Given the description of an element on the screen output the (x, y) to click on. 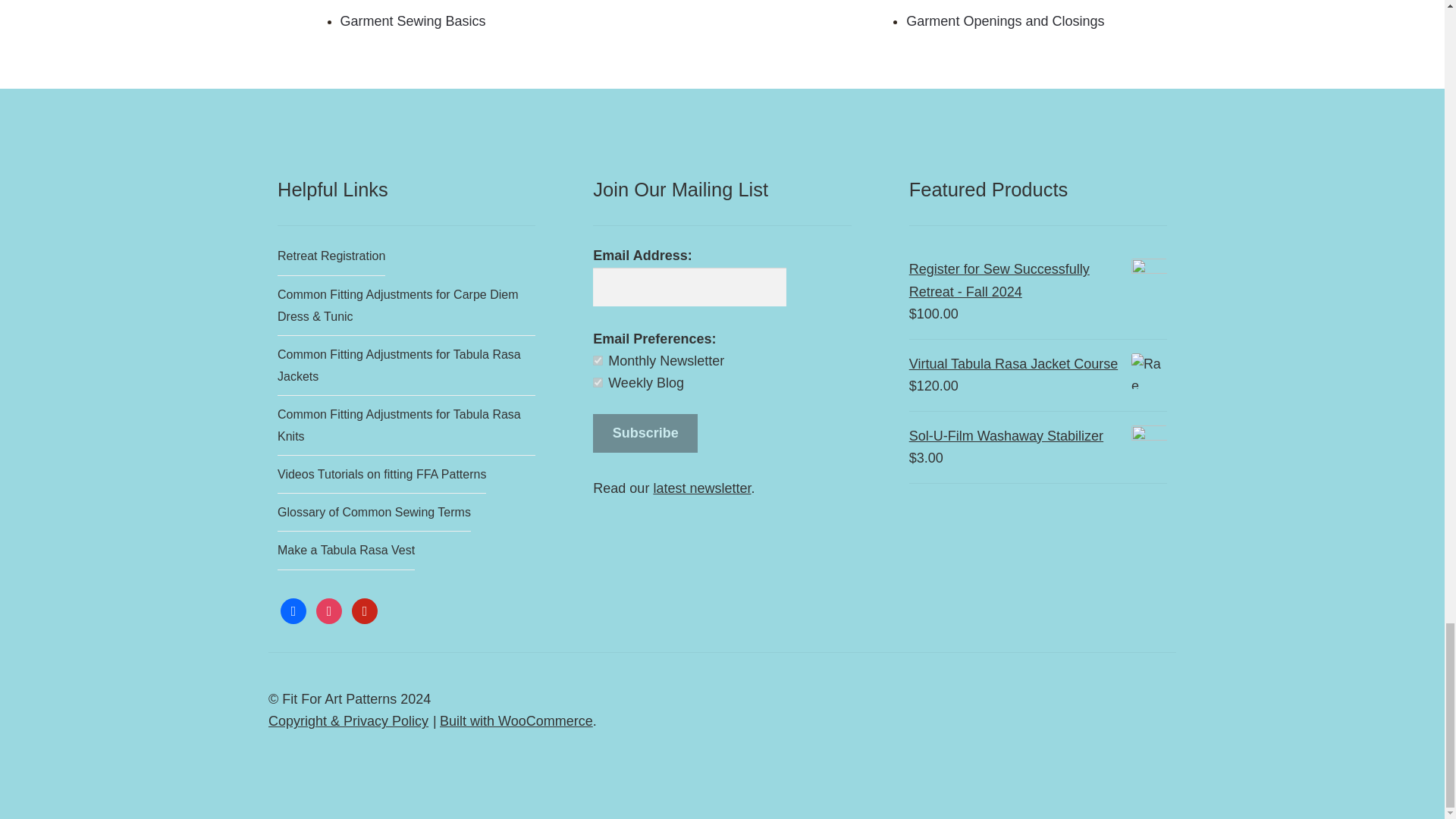
2 (597, 382)
1 (597, 360)
Subscribe (644, 433)
